Given the description of an element on the screen output the (x, y) to click on. 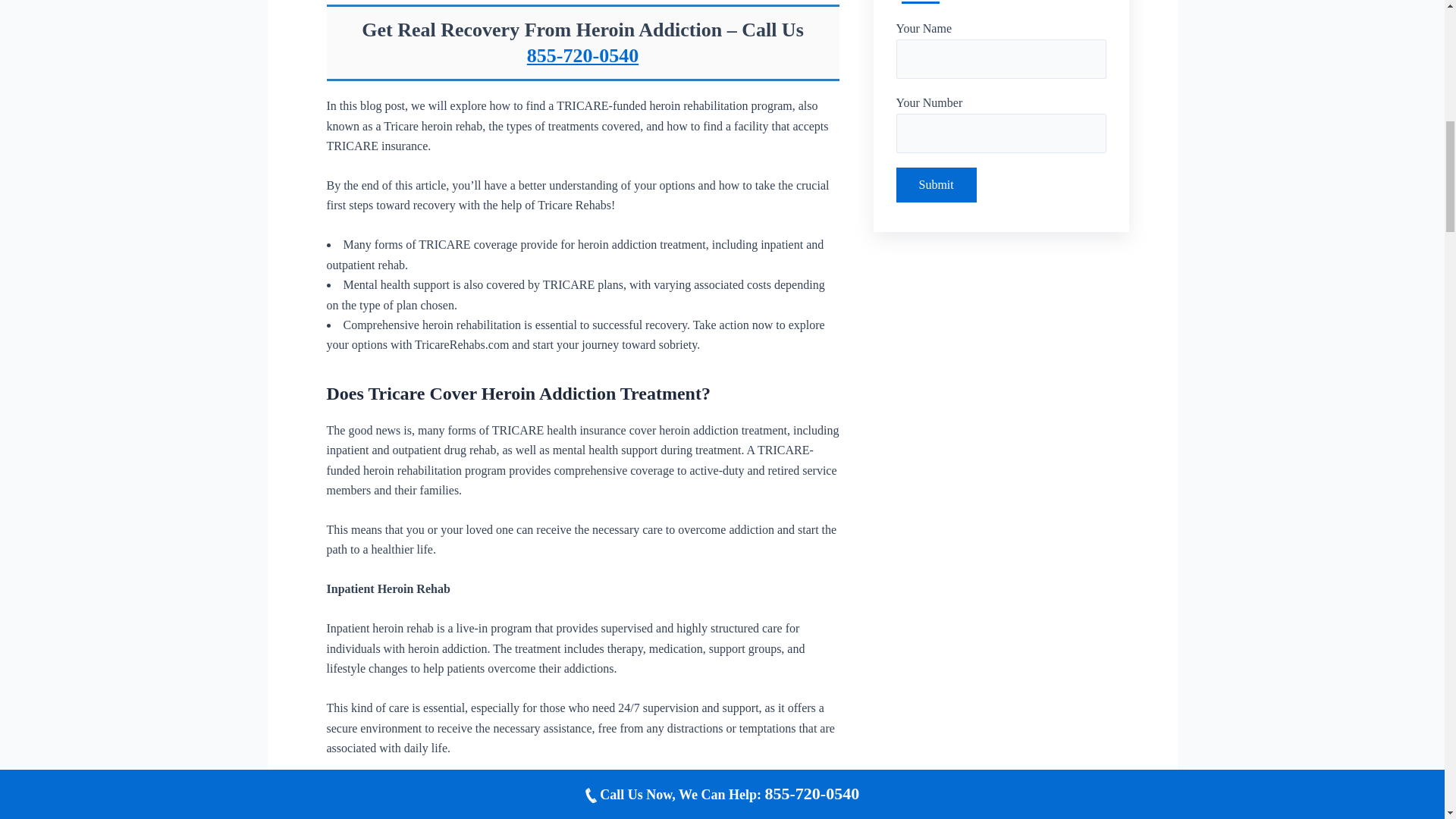
Submit (936, 184)
